Given the description of an element on the screen output the (x, y) to click on. 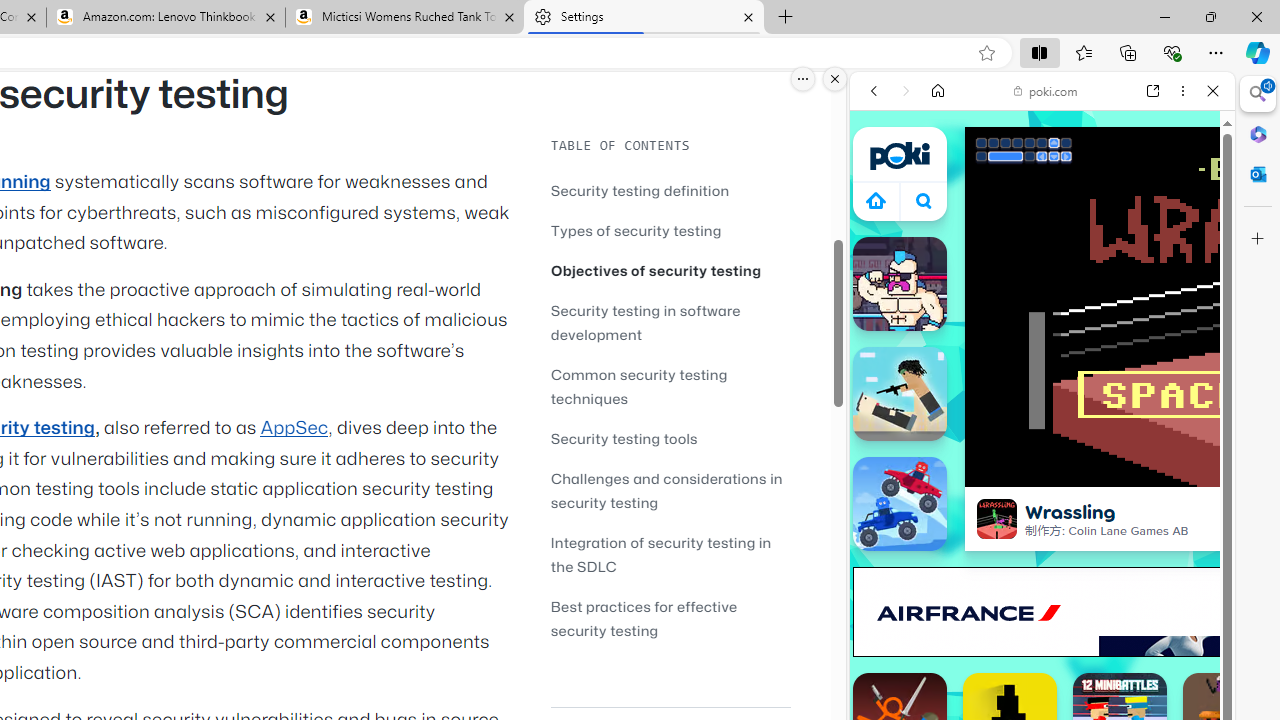
Rowdy Wrestling Rowdy Wrestling (899, 283)
AppSec (293, 428)
Close split screen. (835, 79)
Car Games (1042, 470)
Battle Wheels Battle Wheels (899, 503)
Poki (1034, 288)
